Given the description of an element on the screen output the (x, y) to click on. 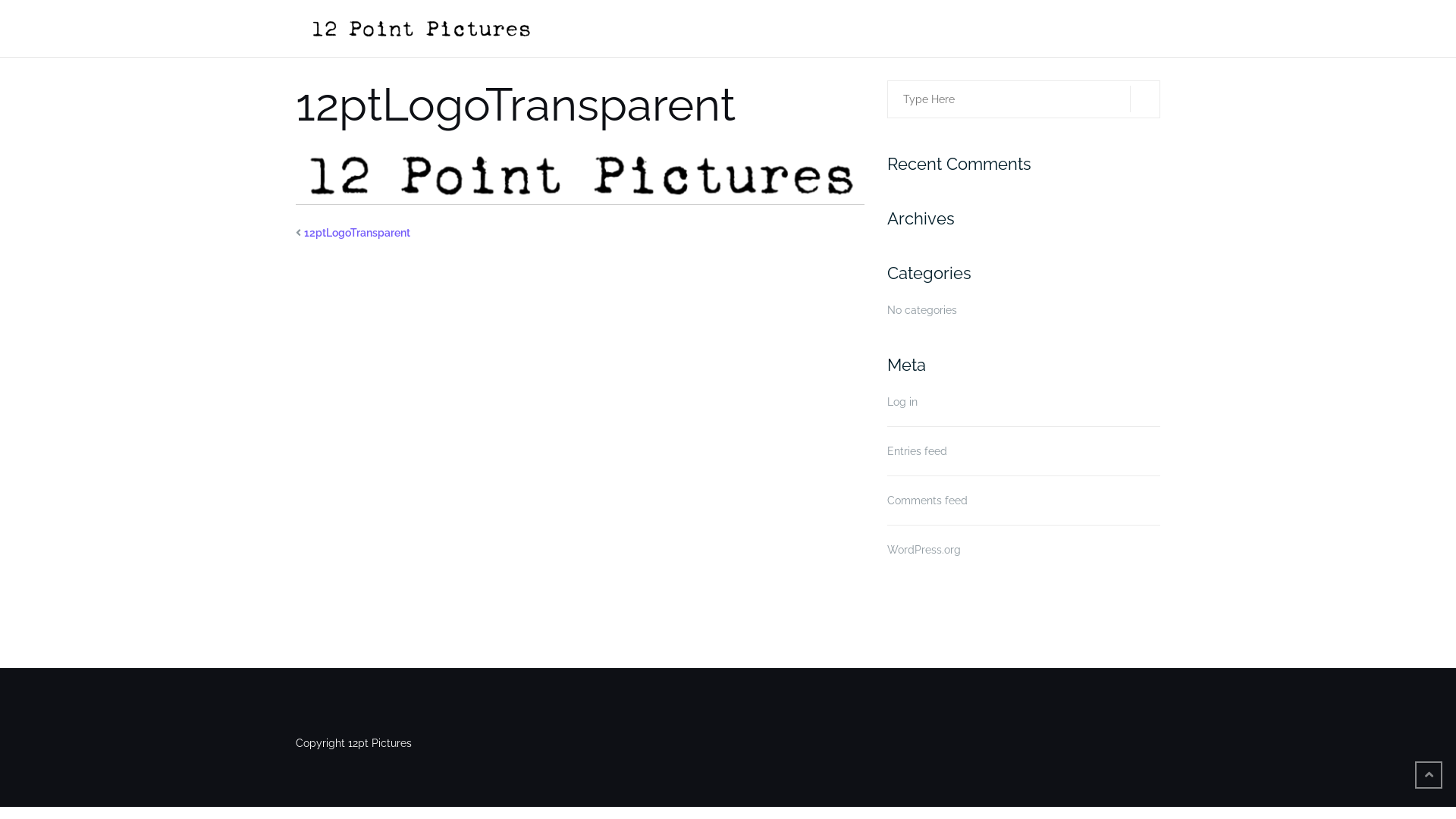
Comments feed Element type: text (927, 500)
WordPress.org Element type: text (923, 549)
Entries feed Element type: text (917, 451)
SEARCH Element type: text (1144, 98)
12ptLogoTransparent Element type: text (357, 232)
Log in Element type: text (902, 401)
